Given the description of an element on the screen output the (x, y) to click on. 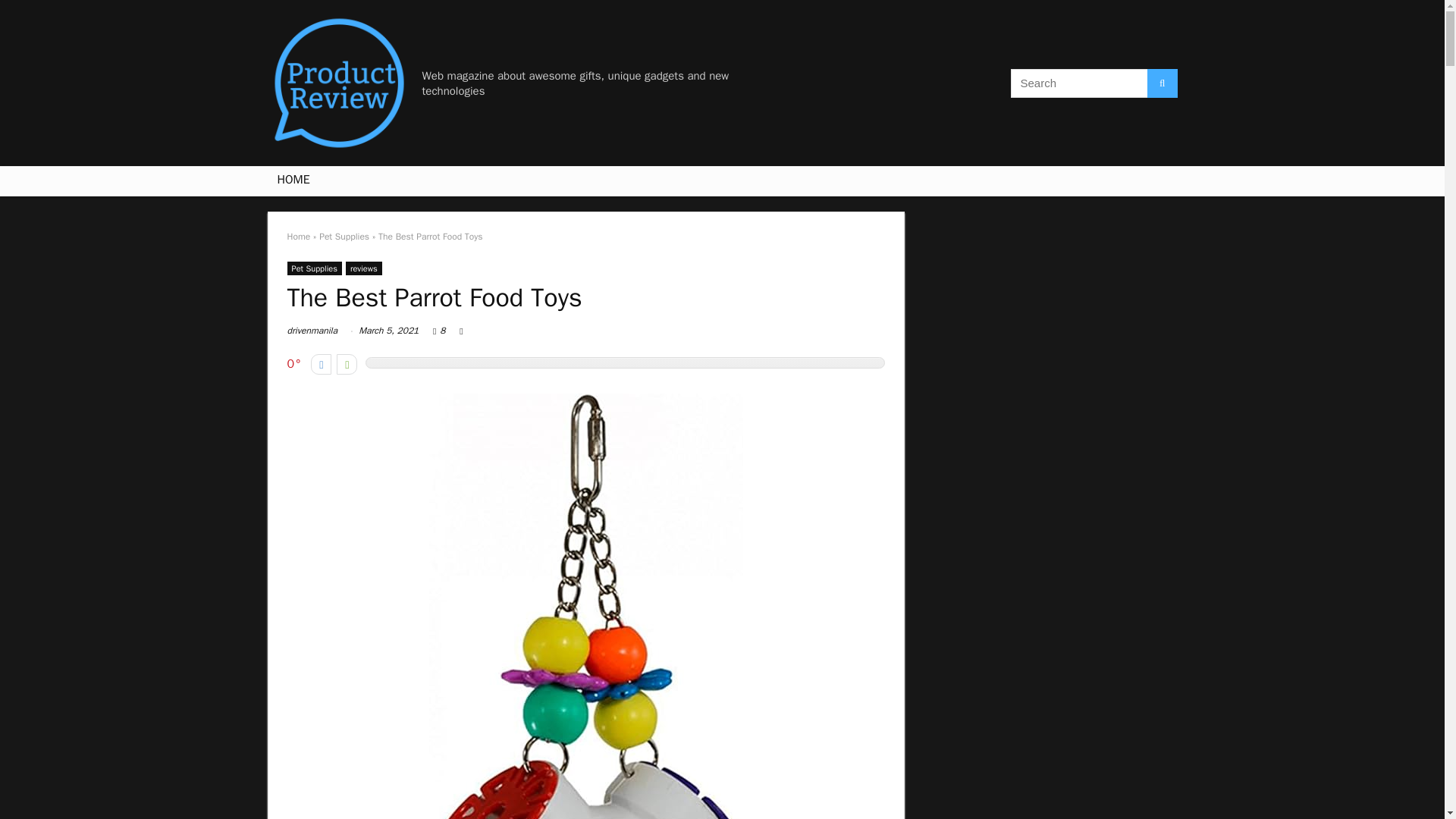
Pet Supplies (313, 268)
reviews (363, 268)
drivenmanila (311, 330)
Home (298, 236)
Vote up (346, 363)
View all posts in reviews (363, 268)
View all posts in Pet Supplies (313, 268)
Vote down (321, 363)
Pet Supplies (343, 236)
HOME (292, 181)
